Given the description of an element on the screen output the (x, y) to click on. 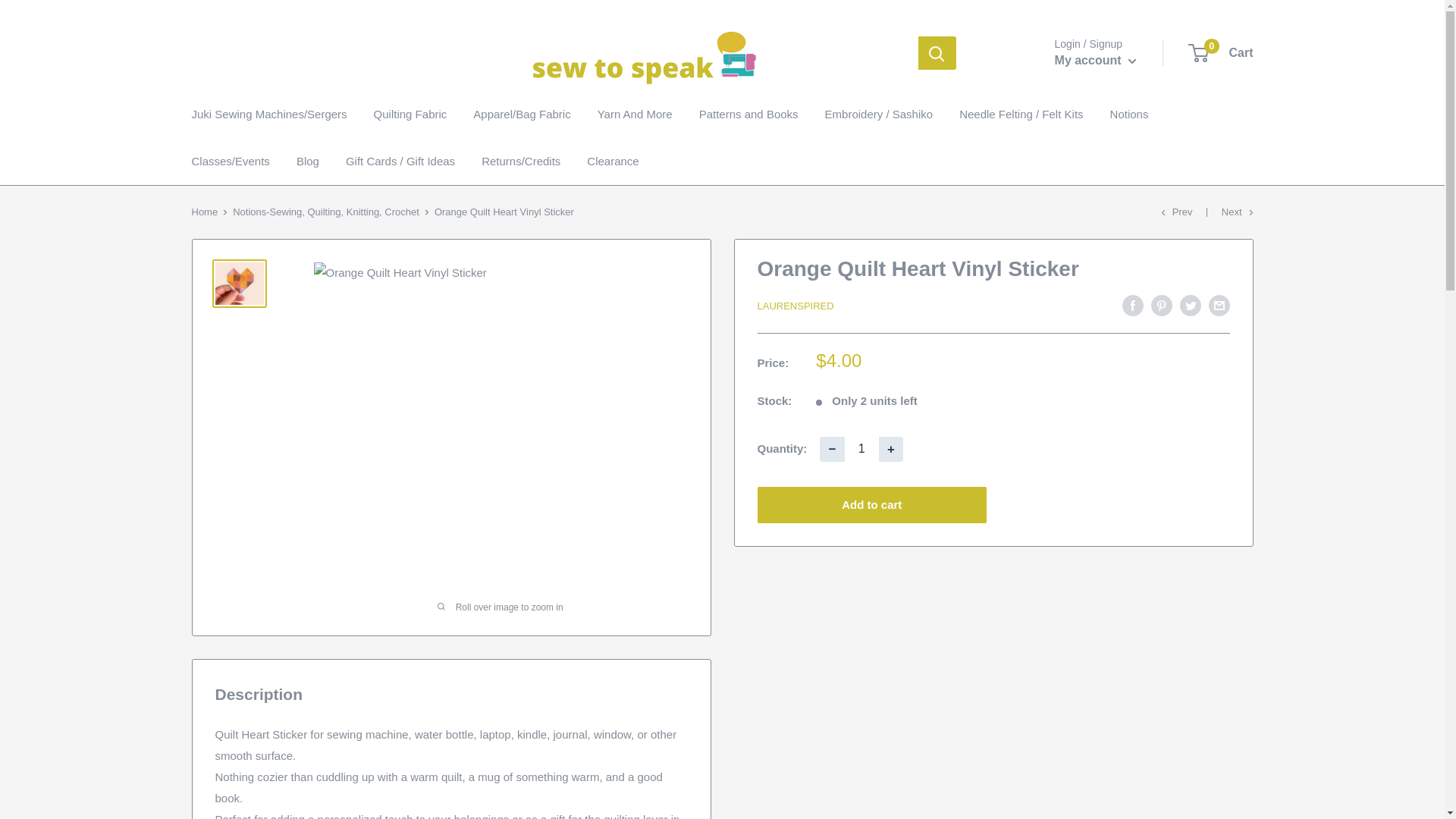
Quilting Fabric (410, 114)
Decrease Quantity (1220, 52)
1 (831, 448)
Patterns and Books (861, 448)
My account (747, 114)
Increase Quantity (1095, 60)
Yarn And More (890, 448)
